Given the description of an element on the screen output the (x, y) to click on. 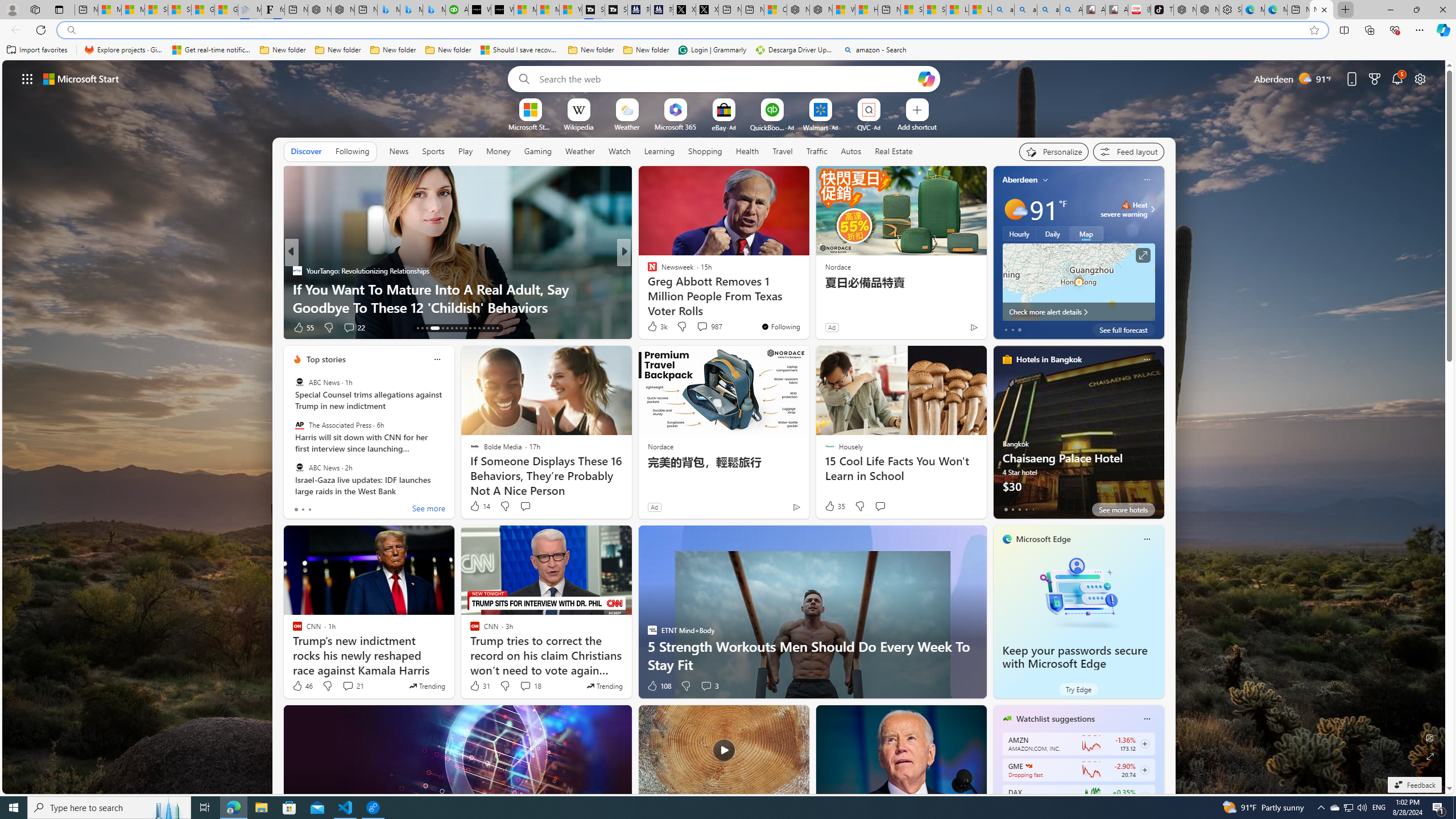
Hotels in Bangkok (1048, 359)
14 Like (479, 505)
View comments 987 Comment (701, 326)
Page settings (1420, 78)
Autos (850, 151)
Autos (851, 151)
FOX News (647, 270)
Should I save recovered Word documents? - Microsoft Support (519, 49)
AutomationID: waffle (27, 78)
Aberdeen (1019, 179)
Why the GOP is no longer denying climate change (457, 307)
